Given the description of an element on the screen output the (x, y) to click on. 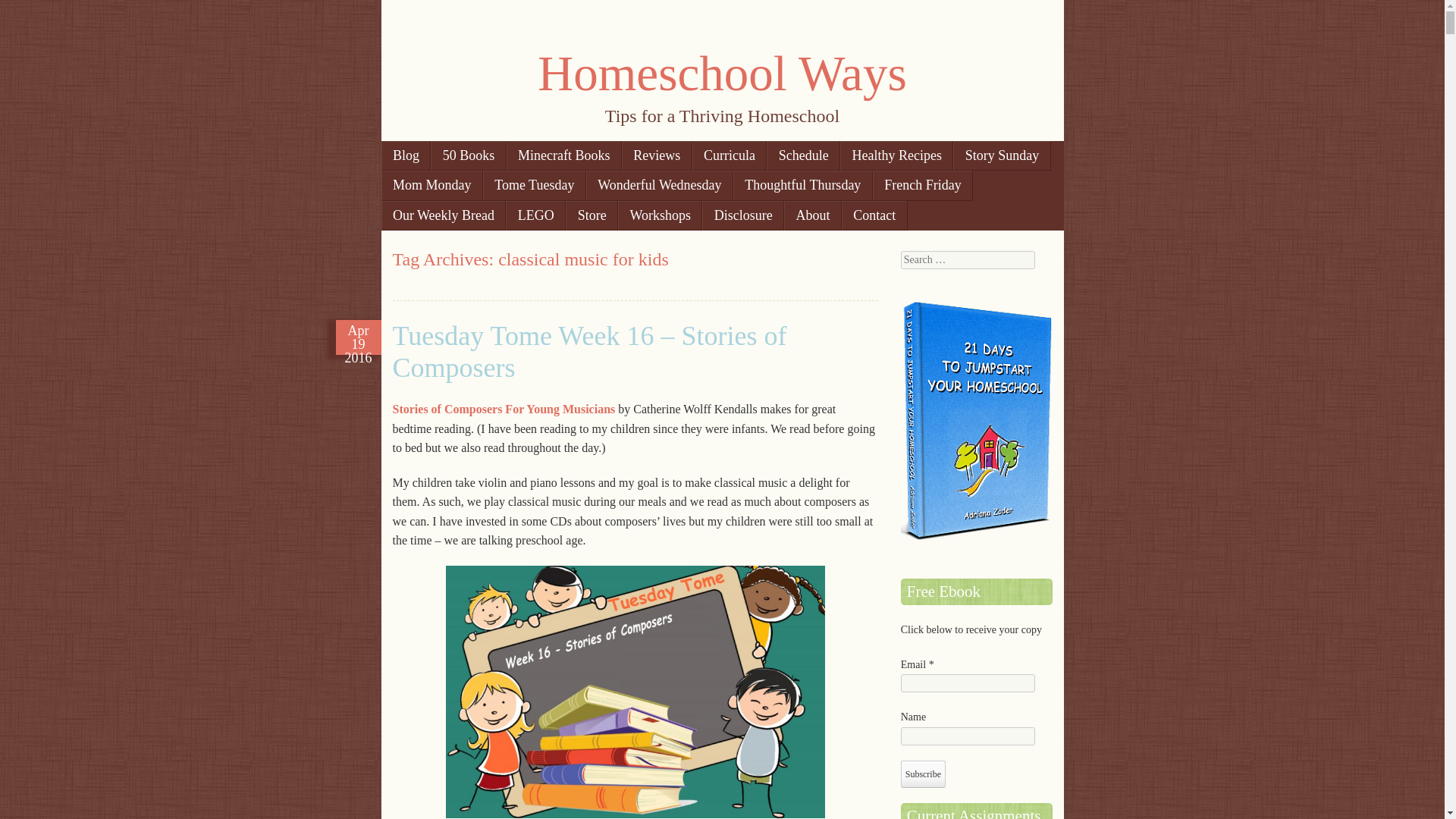
Tome Tuesday (534, 184)
Disclosure (742, 215)
50 Books (467, 155)
Healthy Recipes (896, 155)
Our Weekly Bread (442, 215)
Minecraft Books (563, 155)
About (812, 215)
Wonderful Wednesday (659, 184)
French Friday (922, 184)
Reviews (657, 155)
Skip to content (433, 155)
Workshops (659, 215)
Apr 19 2016 (358, 337)
Story Sunday (1001, 155)
Store (591, 215)
